Given the description of an element on the screen output the (x, y) to click on. 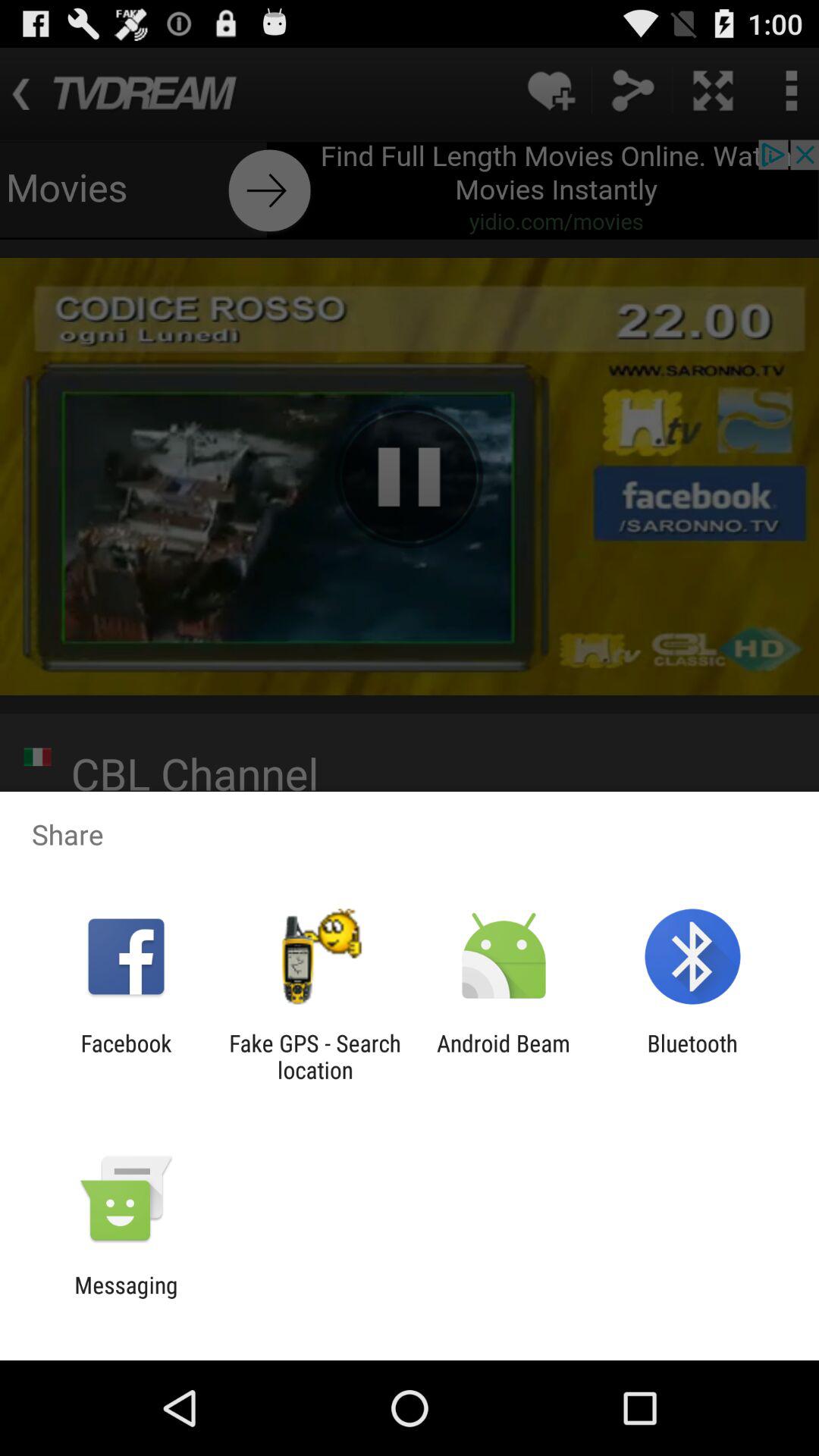
select app next to facebook icon (314, 1056)
